Given the description of an element on the screen output the (x, y) to click on. 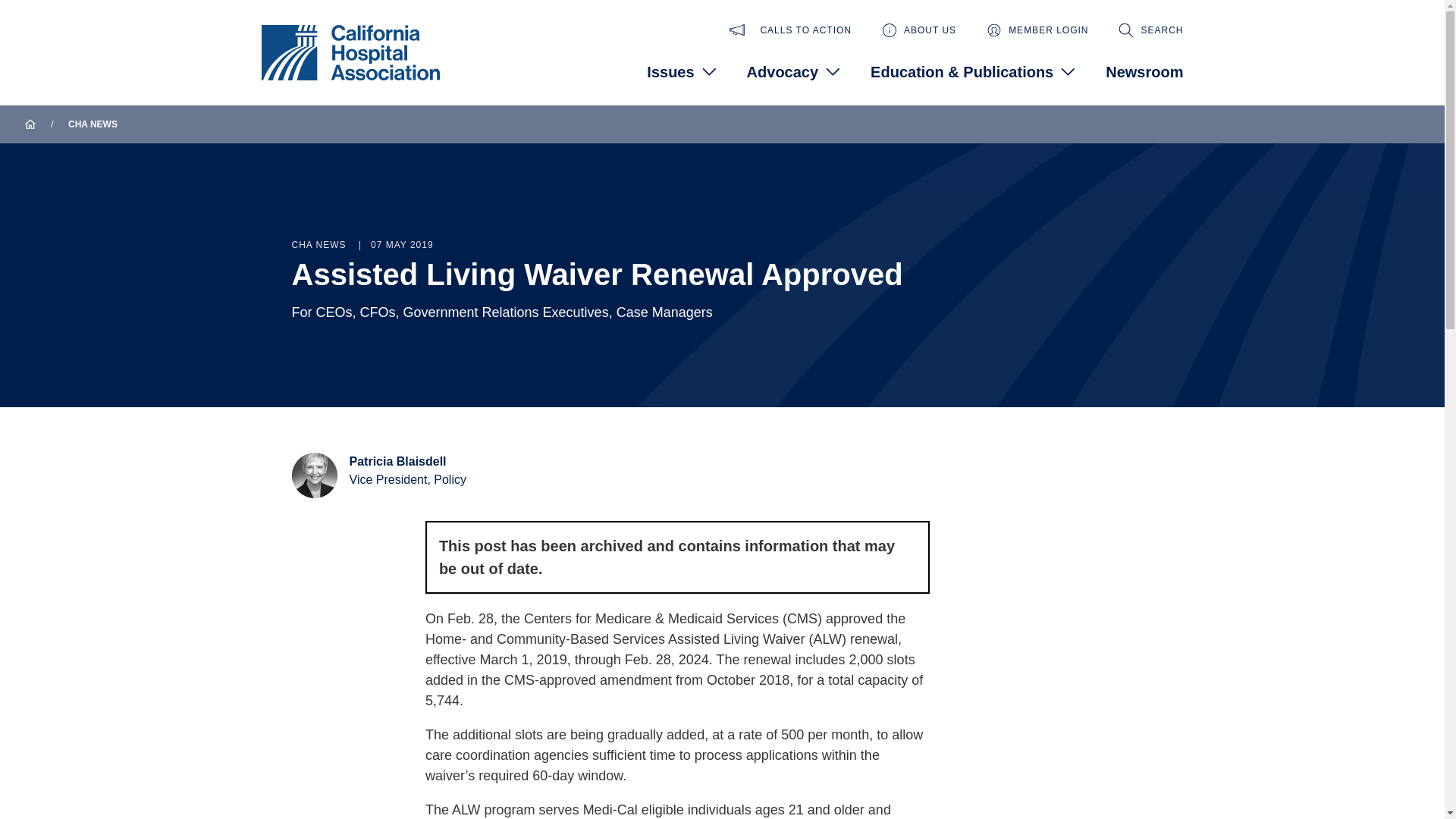
Advocacy (793, 71)
Issues (681, 71)
Patricia Blaisdell (397, 461)
CALLS TO ACTION (790, 29)
ABOUT US (919, 29)
CHA NEWS (92, 124)
Newsroom (1143, 71)
SEARCH (1150, 29)
MEMBER LOGIN (1037, 29)
